Given the description of an element on the screen output the (x, y) to click on. 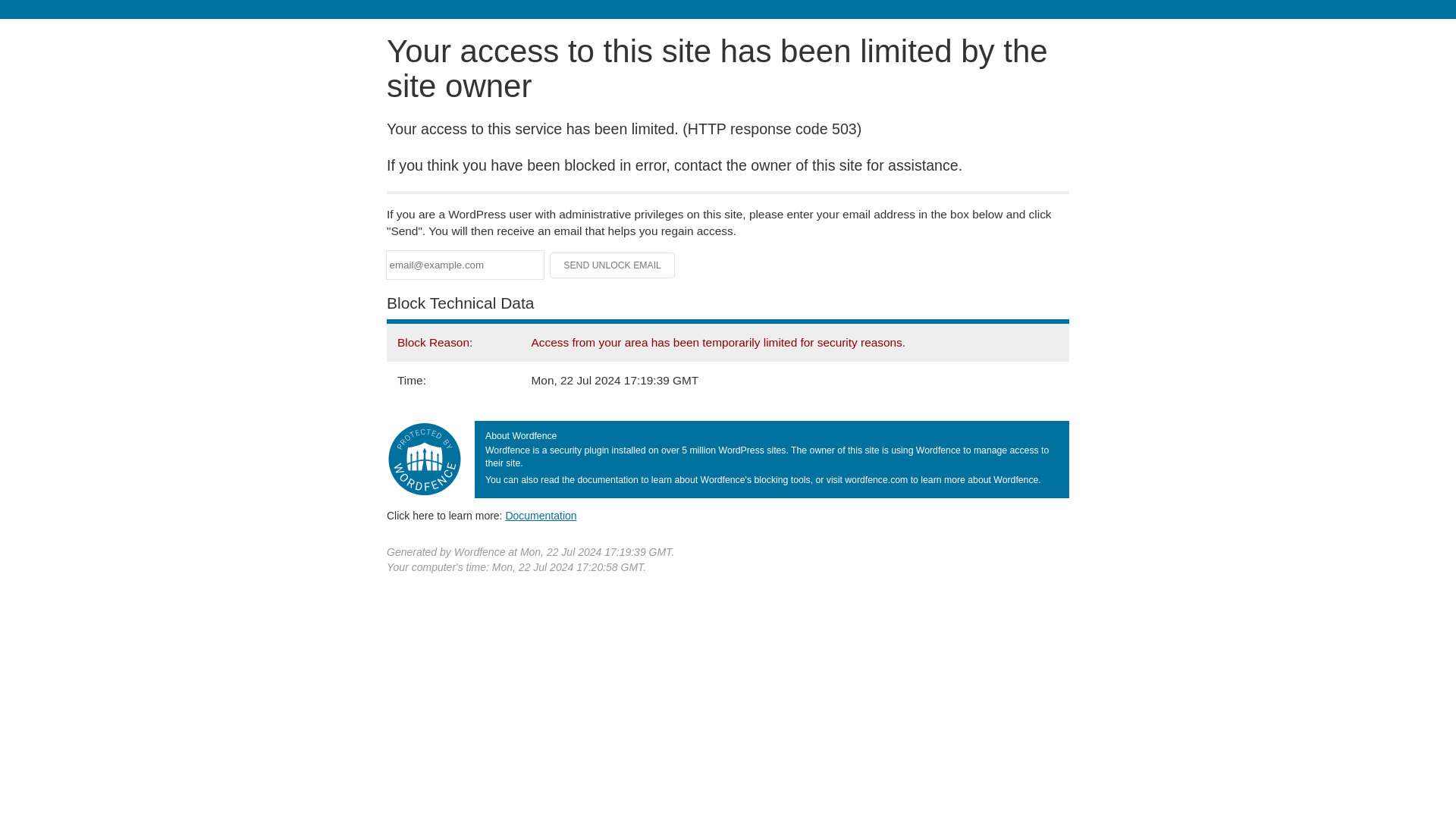
Documentation (540, 515)
Send Unlock Email (612, 265)
Send Unlock Email (612, 265)
